Given the description of an element on the screen output the (x, y) to click on. 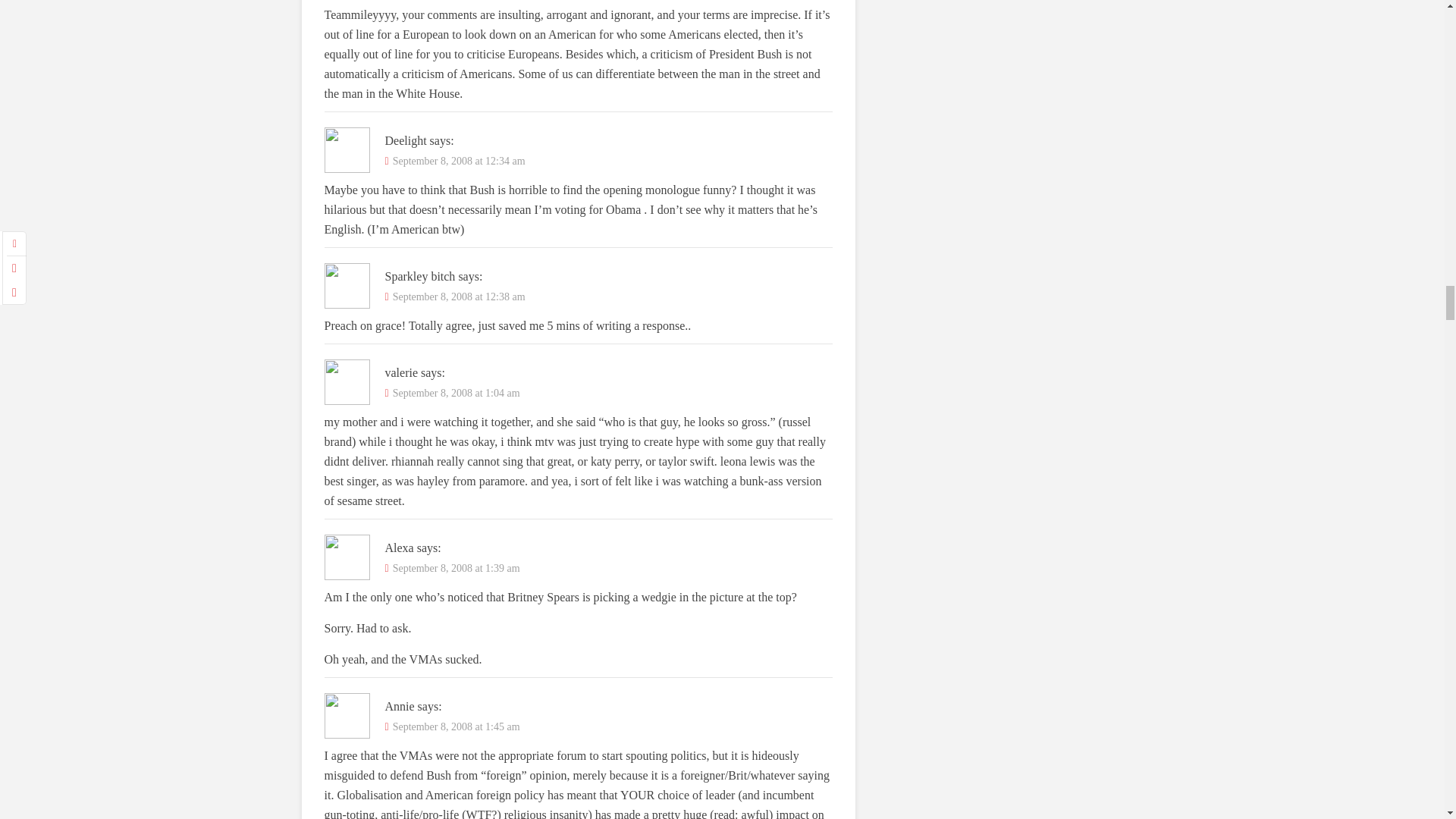
September 8, 2008 at 12:38 am (459, 296)
September 8, 2008 at 1:45 am (456, 726)
September 8, 2008 at 12:34 am (459, 161)
September 8, 2008 at 1:04 am (456, 392)
September 8, 2008 at 1:39 am (456, 568)
